Given the description of an element on the screen output the (x, y) to click on. 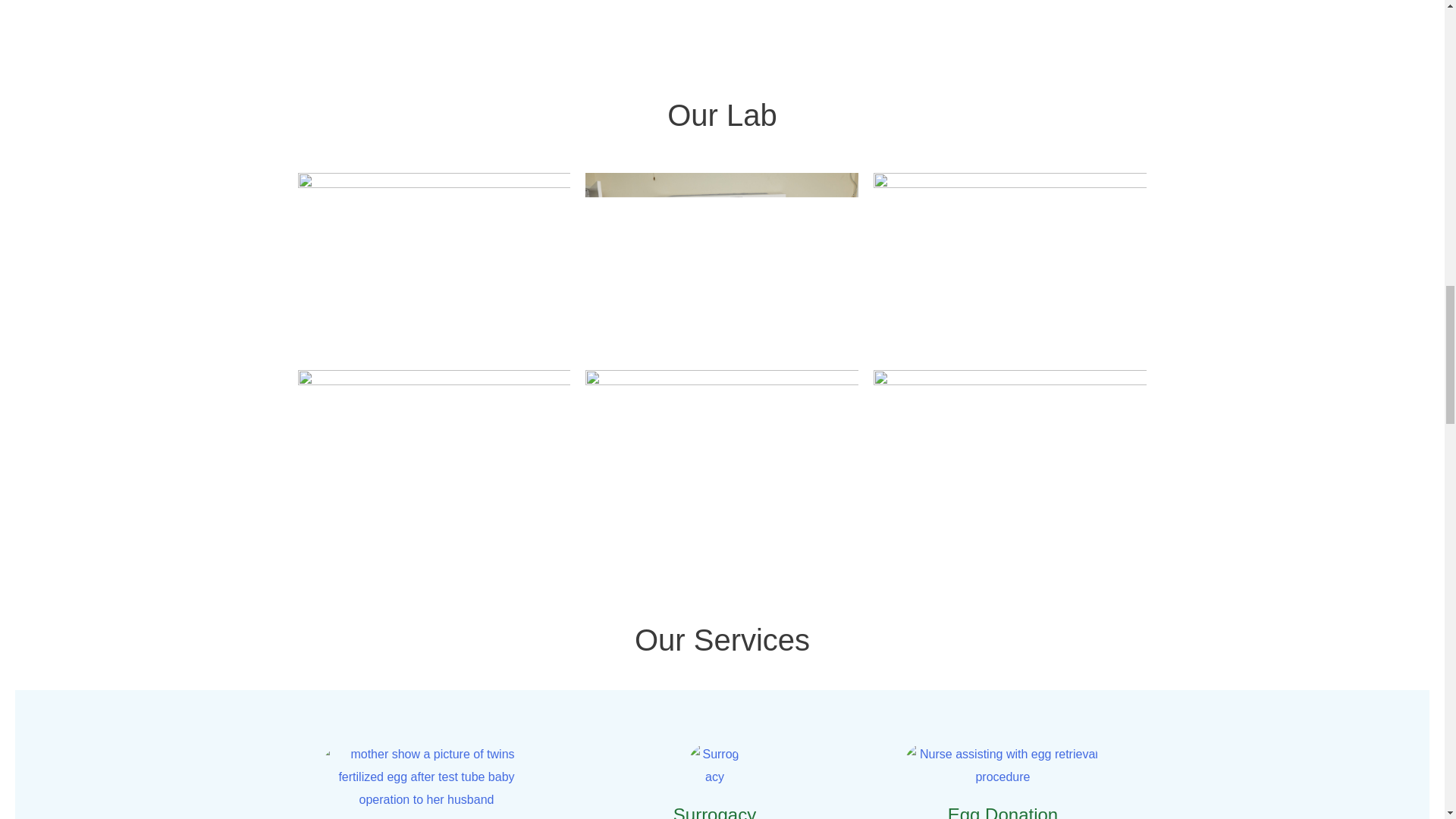
mother show twins egg picture (426, 776)
Nurse assisting with egg retrieval procedure (1003, 764)
Surrogacy (714, 764)
